Given the description of an element on the screen output the (x, y) to click on. 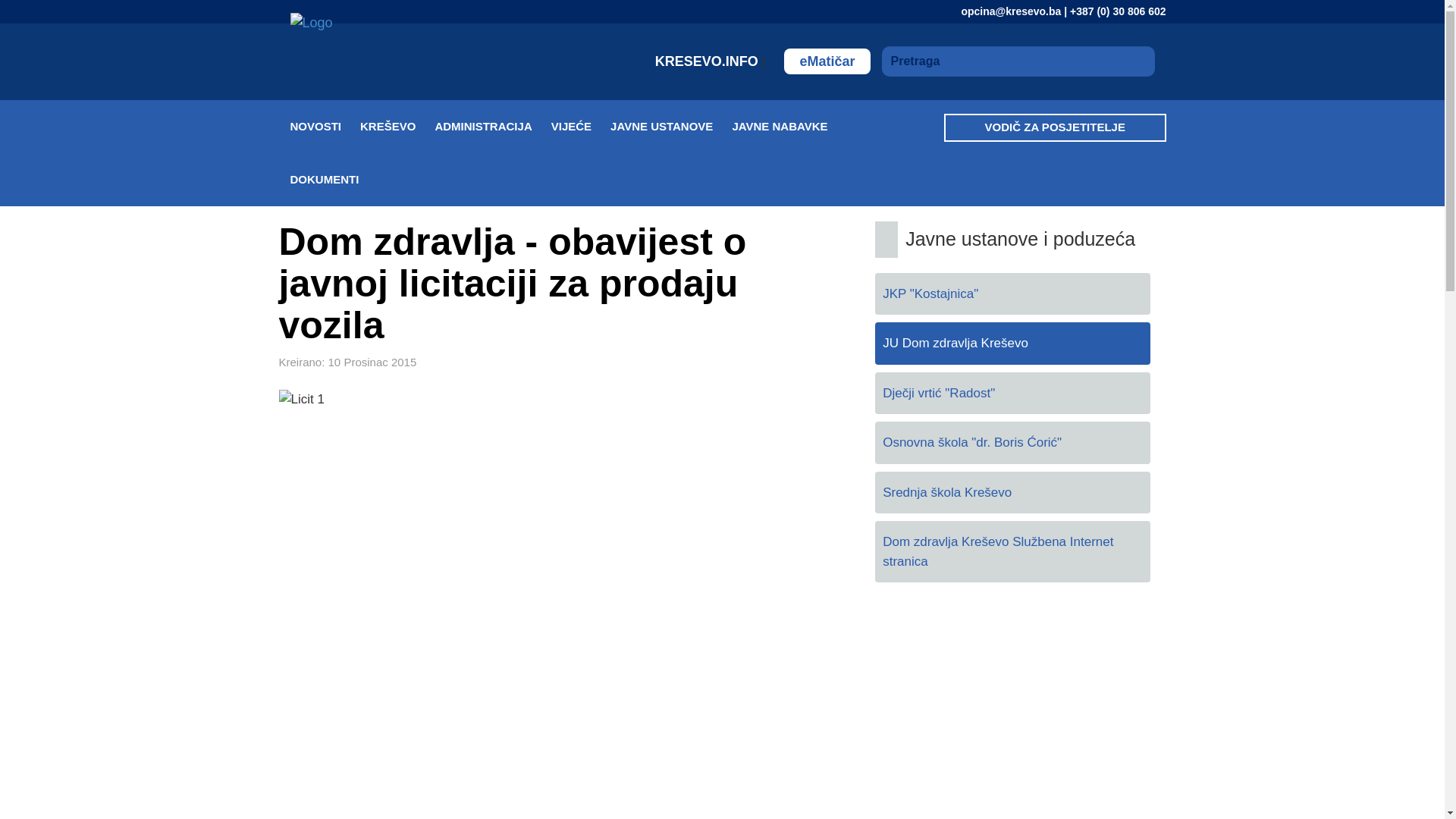
JAVNE USTANOVE Element type: text (670, 126)
JKP "Kostajnica" Element type: text (1012, 294)
NOVOSTI Element type: text (324, 126)
ADMINISTRACIJA Element type: text (492, 126)
JAVNE NABAVKE Element type: text (788, 126)
DOKUMENTI Element type: text (333, 179)
KRESEVO.INFO Element type: text (708, 61)
